Given the description of an element on the screen output the (x, y) to click on. 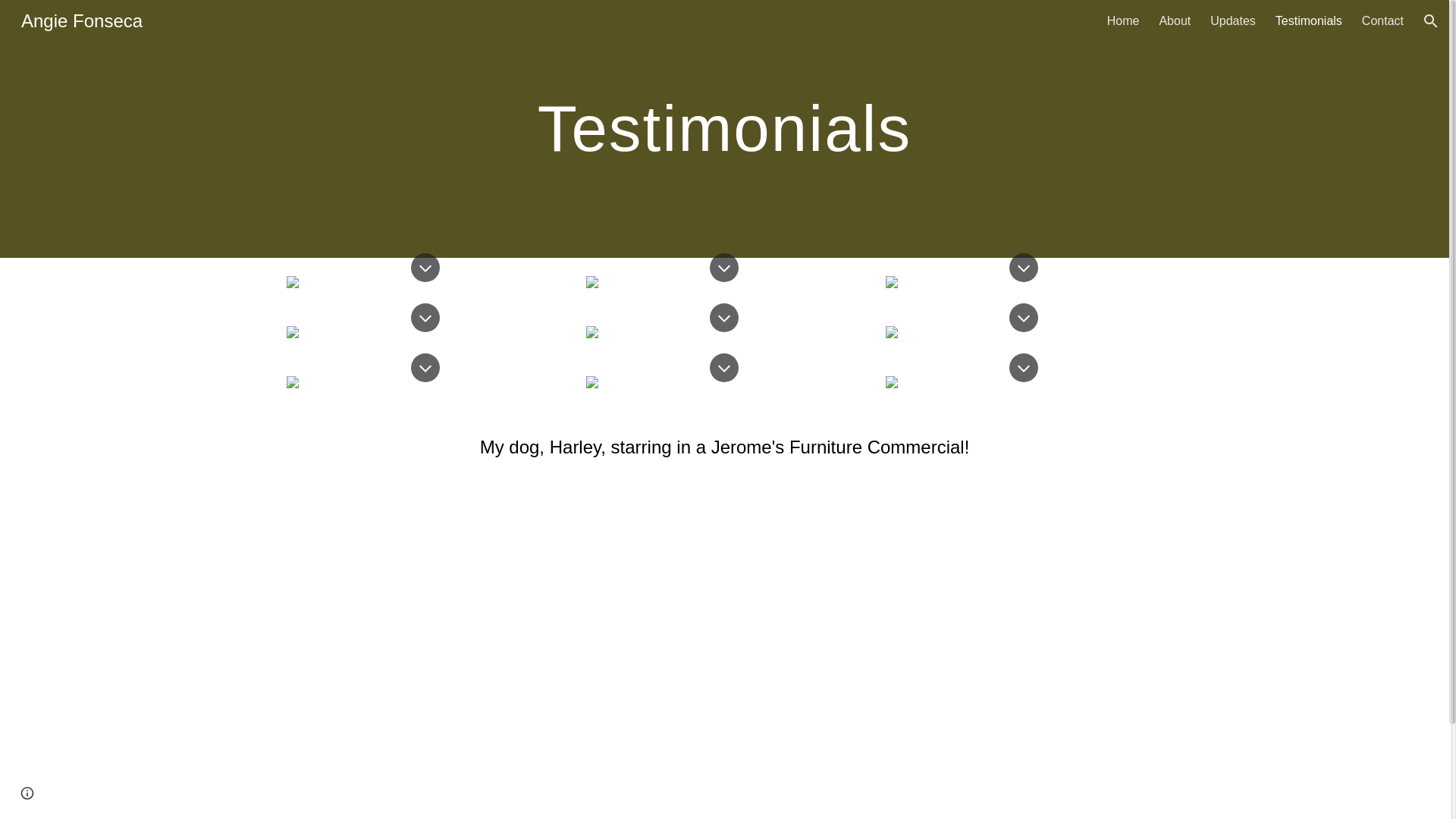
About (1174, 20)
Updates (1232, 20)
Contact (1382, 20)
Home (1123, 20)
Testimonials (1308, 20)
Angie Fonseca (81, 19)
